Given the description of an element on the screen output the (x, y) to click on. 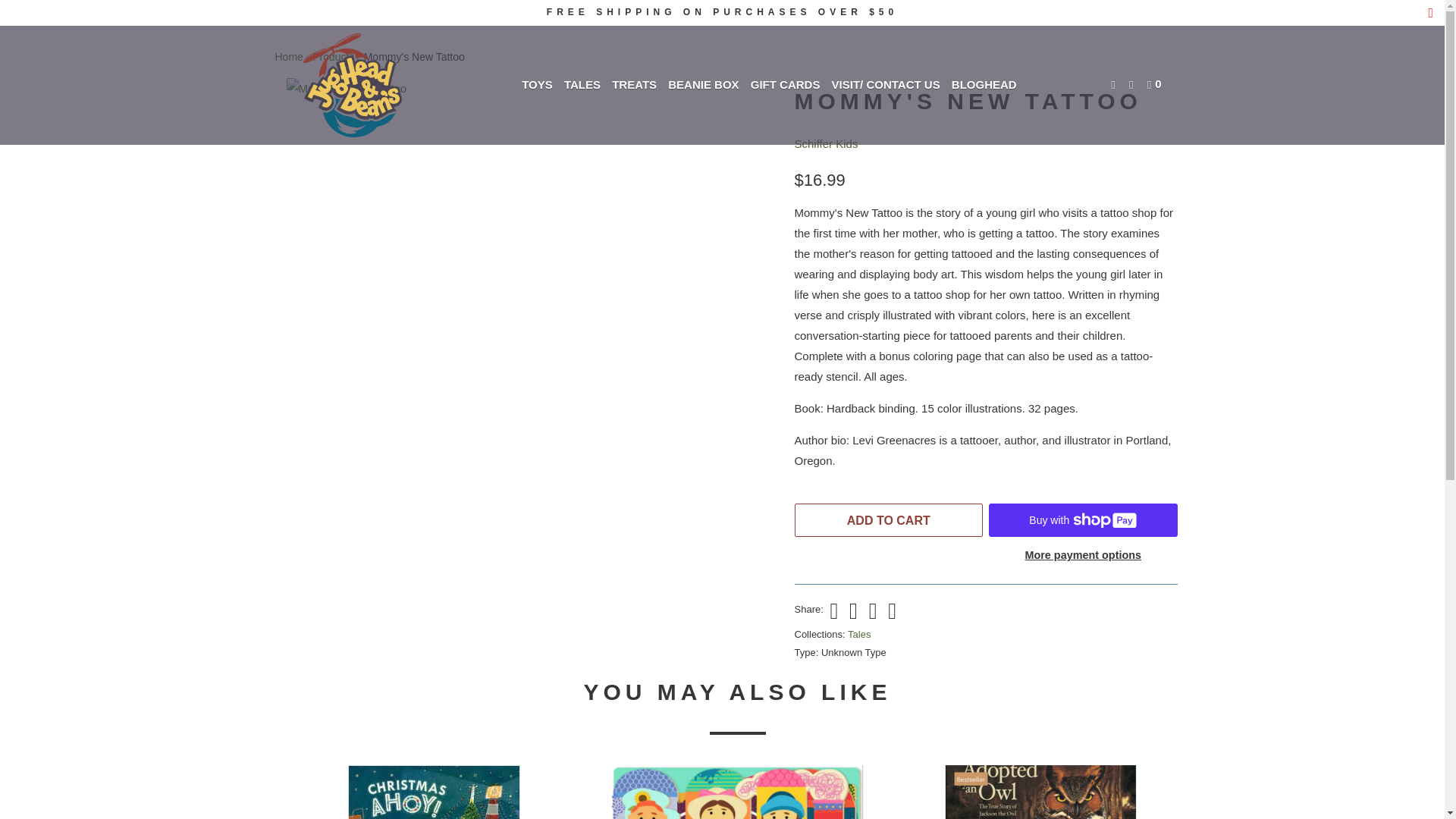
Jughead and Bean's  (352, 84)
BLOGHEAD (984, 84)
Schiffer Kids (826, 143)
Schiffer Kids (826, 143)
TOYS (537, 84)
ADD TO CART (889, 520)
Home (288, 56)
Jughead and Bean's  (288, 56)
Products (333, 56)
